Given the description of an element on the screen output the (x, y) to click on. 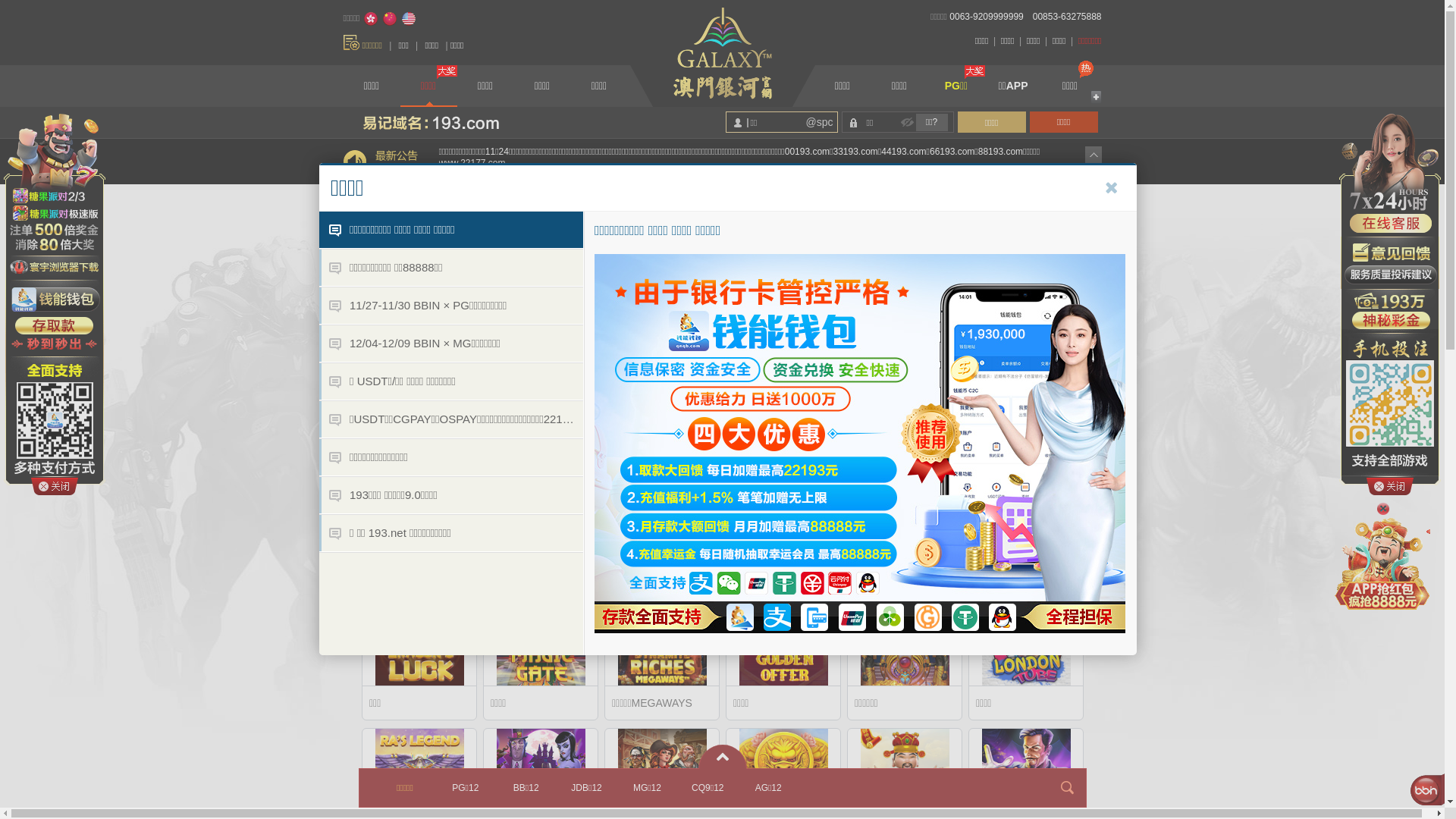
English Element type: hover (408, 18)
